Given the description of an element on the screen output the (x, y) to click on. 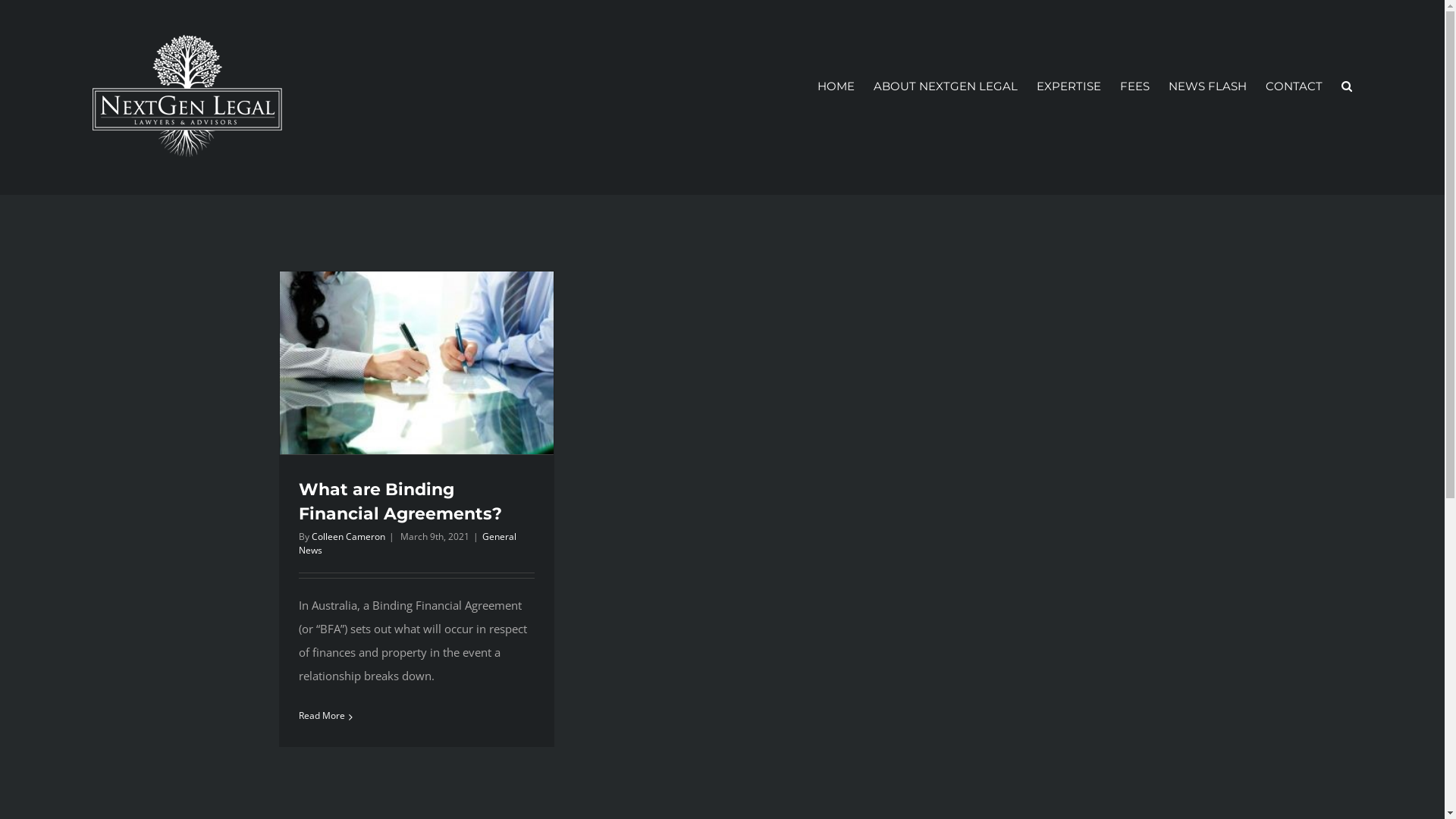
FEES Element type: text (1134, 85)
EXPERTISE Element type: text (1068, 85)
CONTACT Element type: text (1293, 85)
ABOUT NEXTGEN LEGAL Element type: text (945, 85)
HOME Element type: text (835, 85)
Colleen Cameron Element type: text (347, 536)
What are Binding Financial Agreements? Element type: text (400, 501)
General News Element type: text (407, 543)
NEWS FLASH Element type: text (1207, 85)
Read More Element type: text (321, 715)
